Given the description of an element on the screen output the (x, y) to click on. 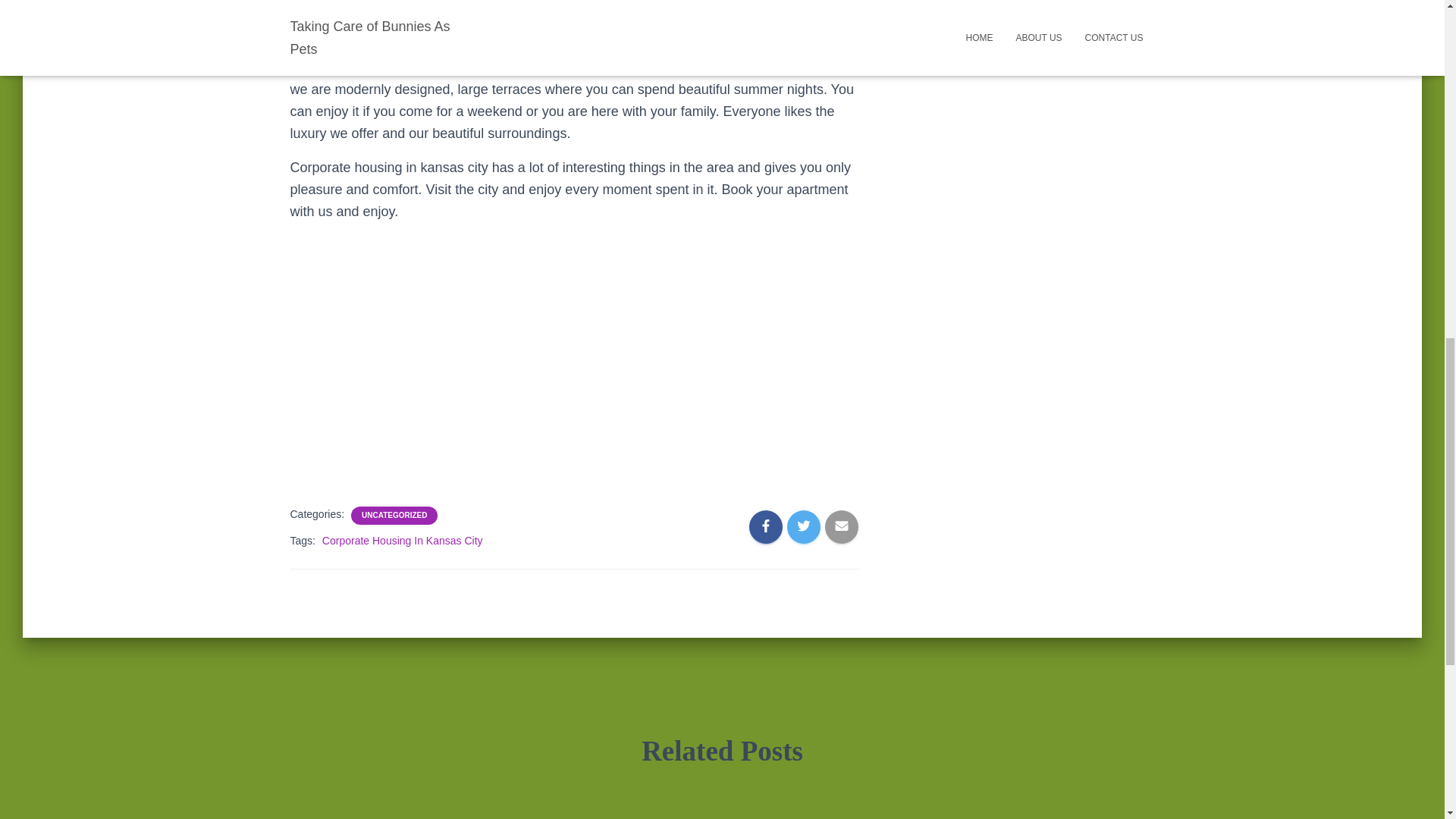
UNCATEGORIZED (393, 515)
Twitter (1012, 30)
Facebook (972, 30)
YouTube (1092, 30)
Instagram (1052, 30)
Corporate Housing In Kansas City (402, 540)
comfortable life (681, 4)
